Given the description of an element on the screen output the (x, y) to click on. 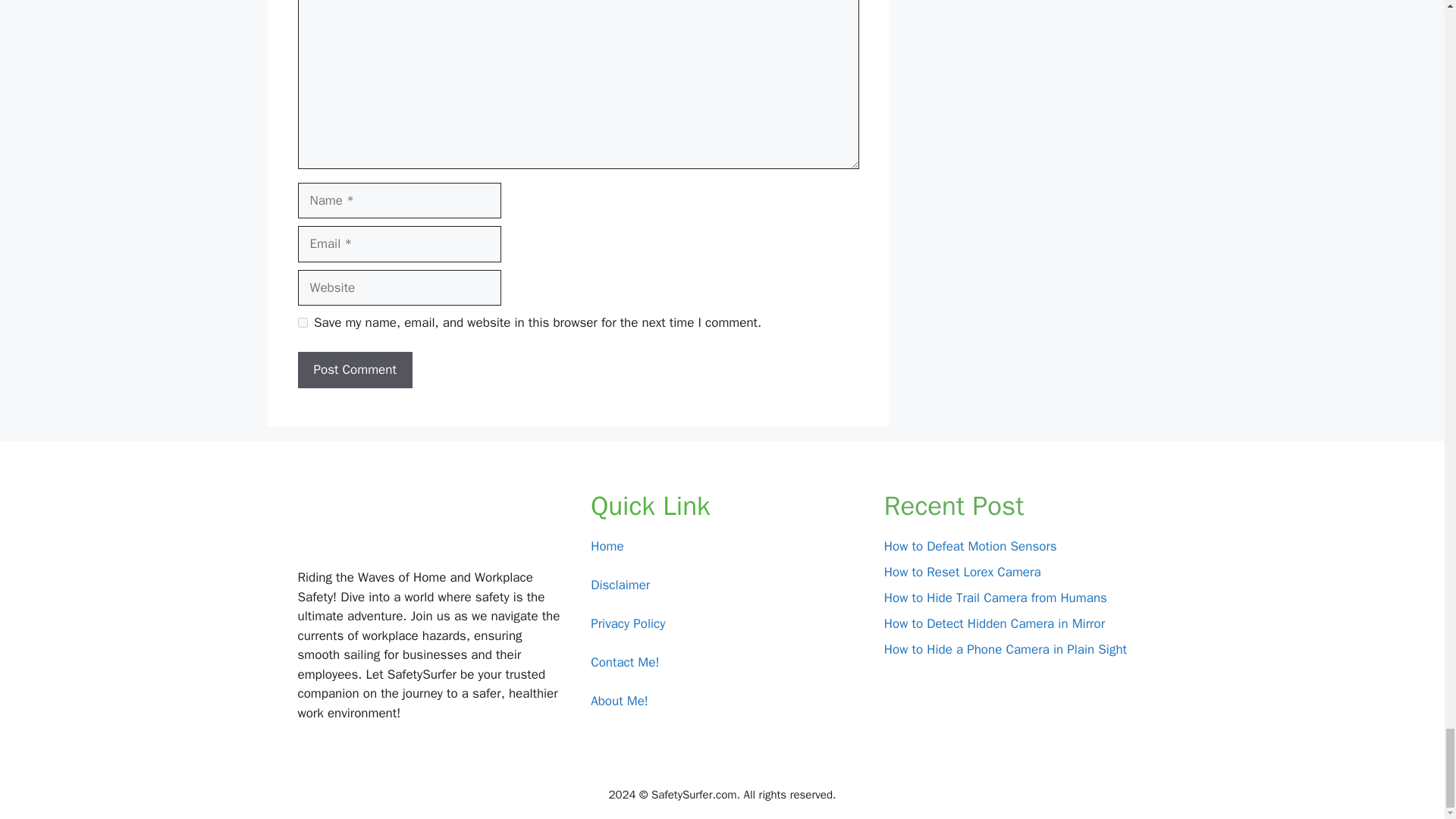
Disclaimer (620, 584)
How to Reset Lorex Camera (962, 571)
Home (607, 546)
How to Defeat Motion Sensors (970, 546)
How to Detect Hidden Camera in Mirror (994, 623)
How to Hide Trail Camera from Humans (994, 597)
Post Comment (354, 370)
yes (302, 322)
Privacy Policy (628, 623)
How to Hide a Phone Camera in Plain Sight (1004, 649)
About Me! (619, 700)
Post Comment (354, 370)
Contact Me! (625, 662)
